Given the description of an element on the screen output the (x, y) to click on. 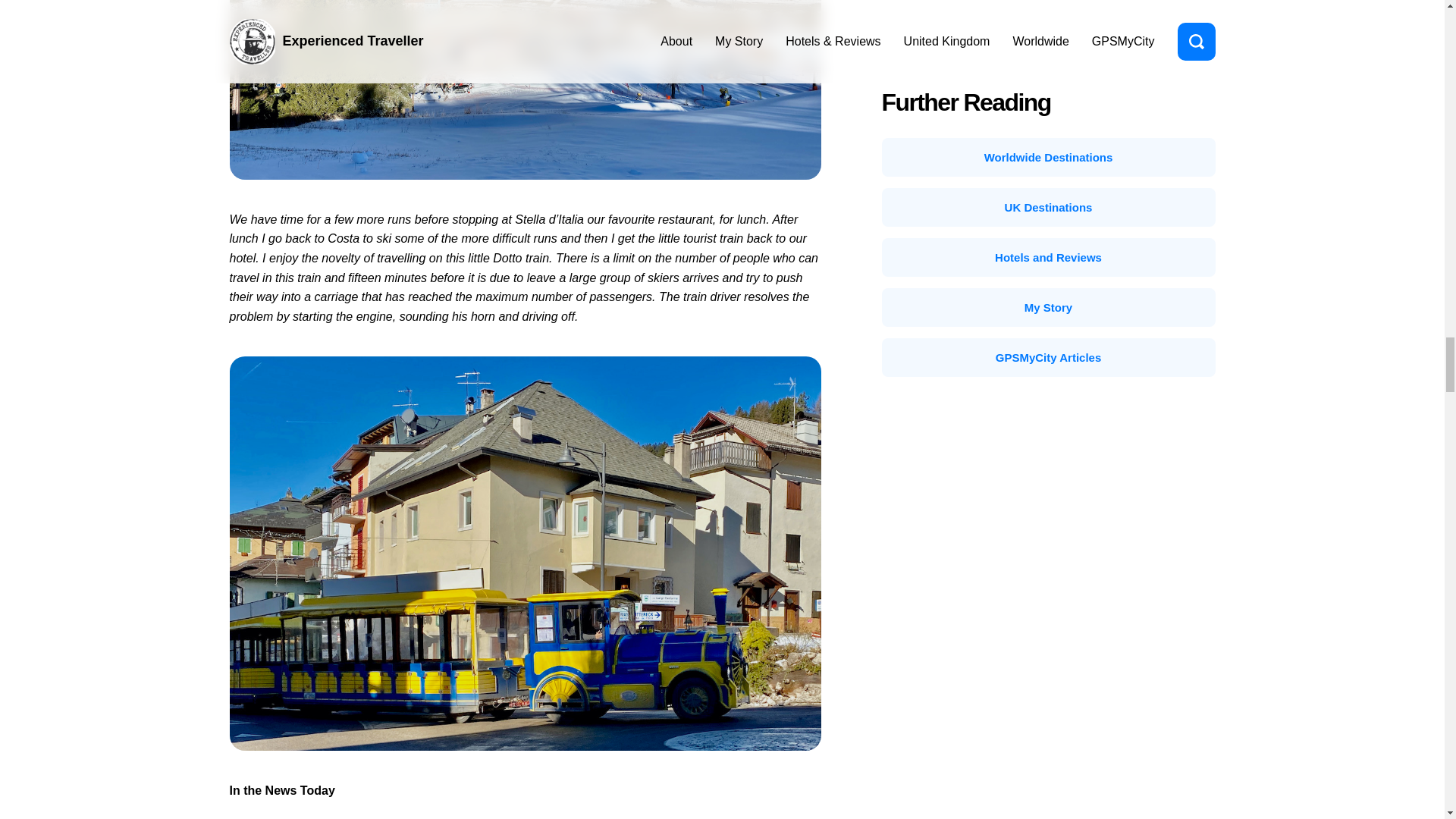
Costa Ski Area Near Folgaria in Italy (524, 89)
